Given the description of an element on the screen output the (x, y) to click on. 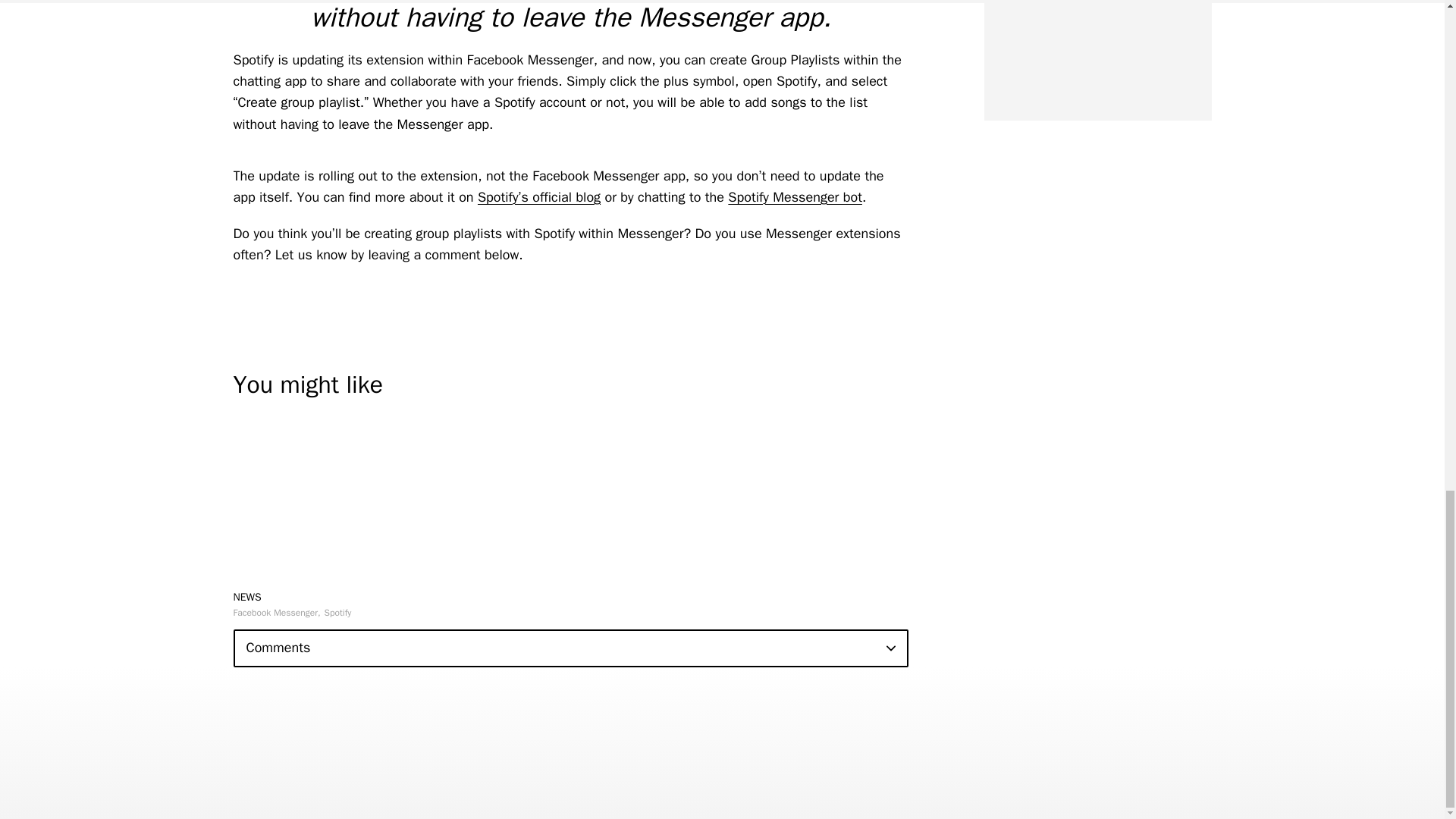
Comments (570, 648)
Facebook Messenger (276, 612)
Spotify Messenger bot (794, 197)
Spotify (338, 612)
NEWS (247, 596)
